Given the description of an element on the screen output the (x, y) to click on. 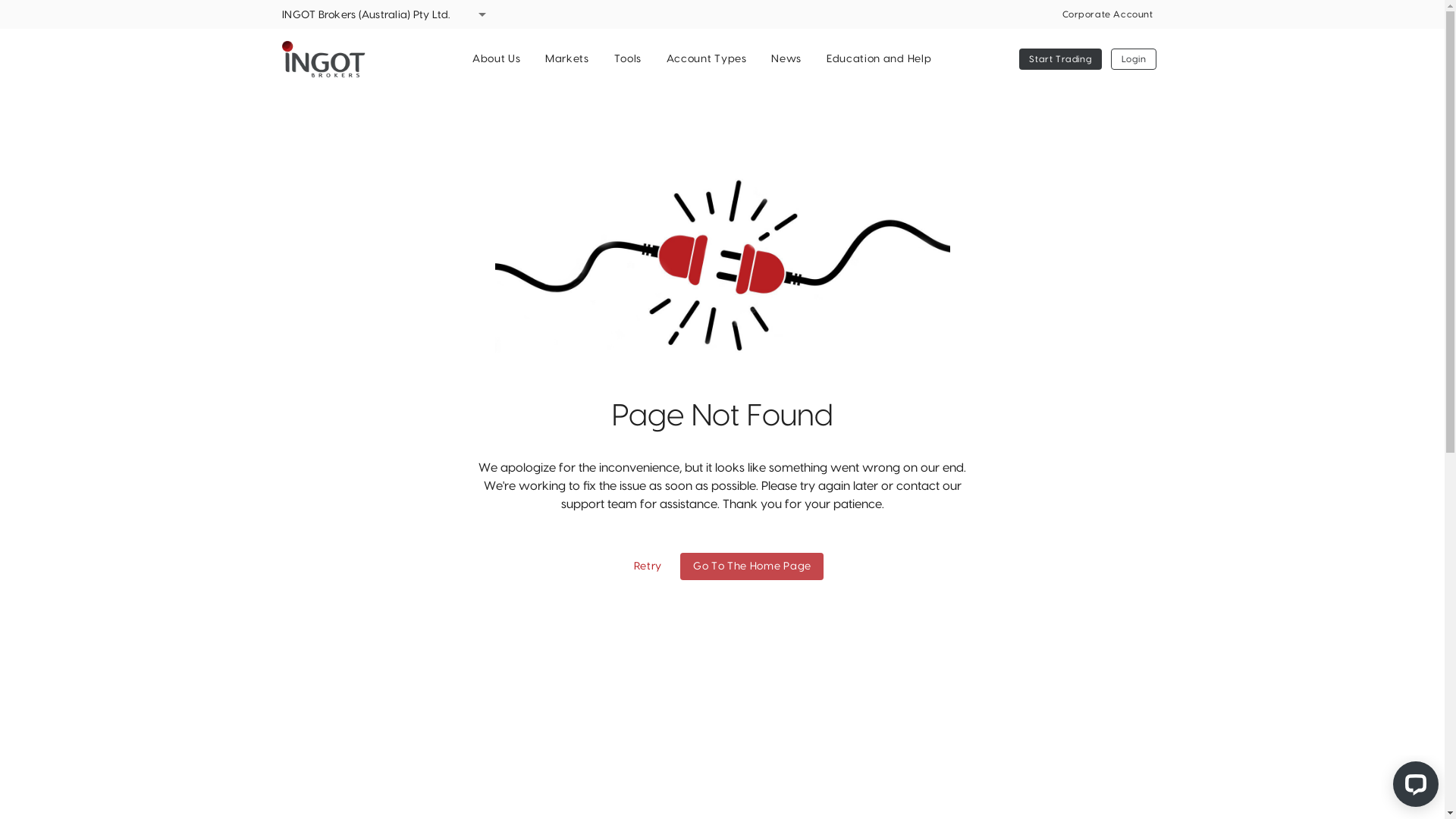
Markets Element type: text (566, 58)
Start Trading Element type: text (1060, 58)
Retry Element type: text (647, 566)
Education and Help Element type: text (878, 58)
Go To The Home Page Element type: text (751, 566)
Account Types Element type: text (706, 58)
Tools Element type: text (627, 58)
News Element type: text (786, 58)
Corporate Account Element type: text (1106, 14)
Login Element type: text (1133, 58)
About Us Element type: text (495, 58)
